Given the description of an element on the screen output the (x, y) to click on. 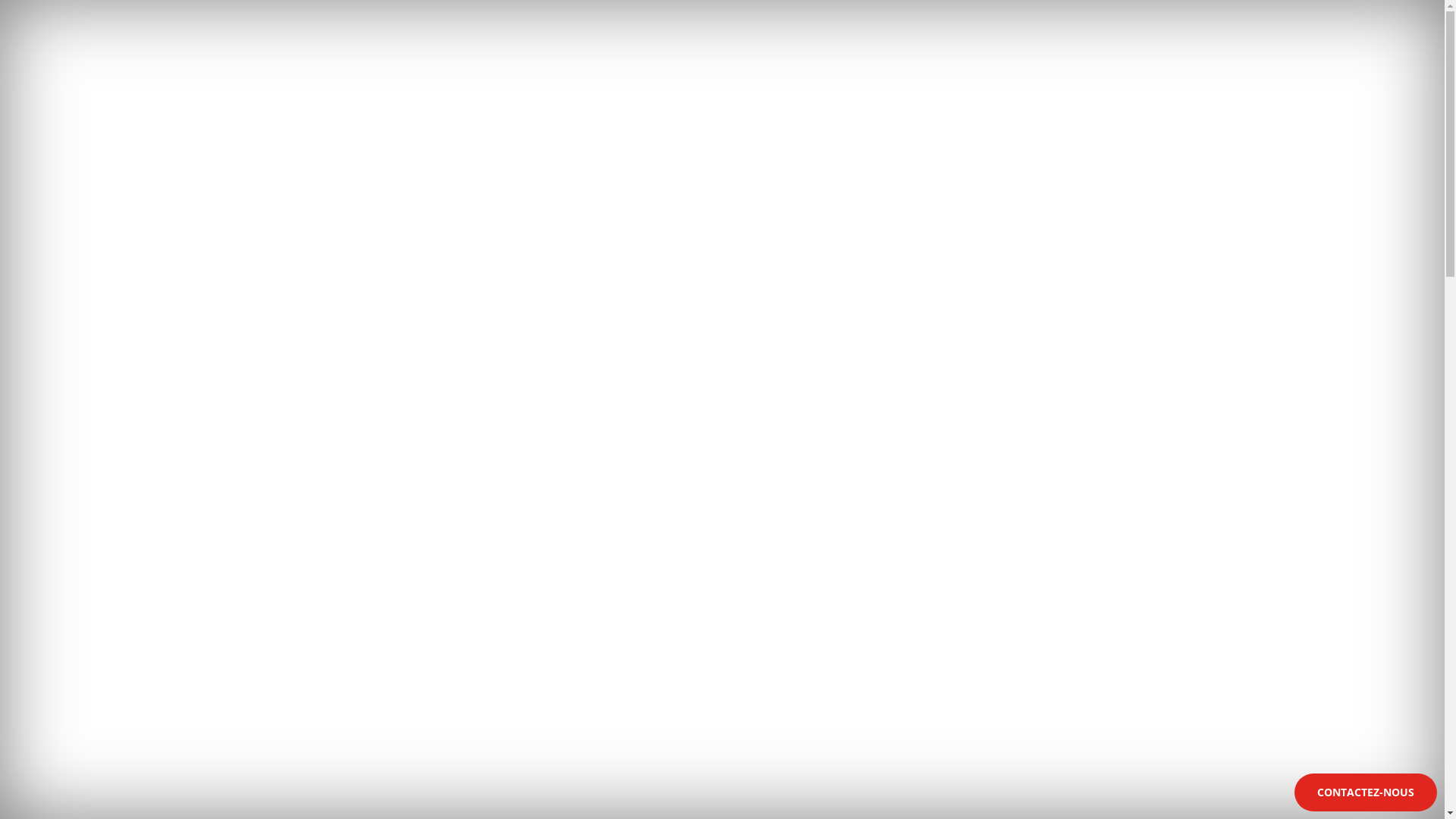
CONTACTEZ-NOUS Element type: text (1365, 792)
